Given the description of an element on the screen output the (x, y) to click on. 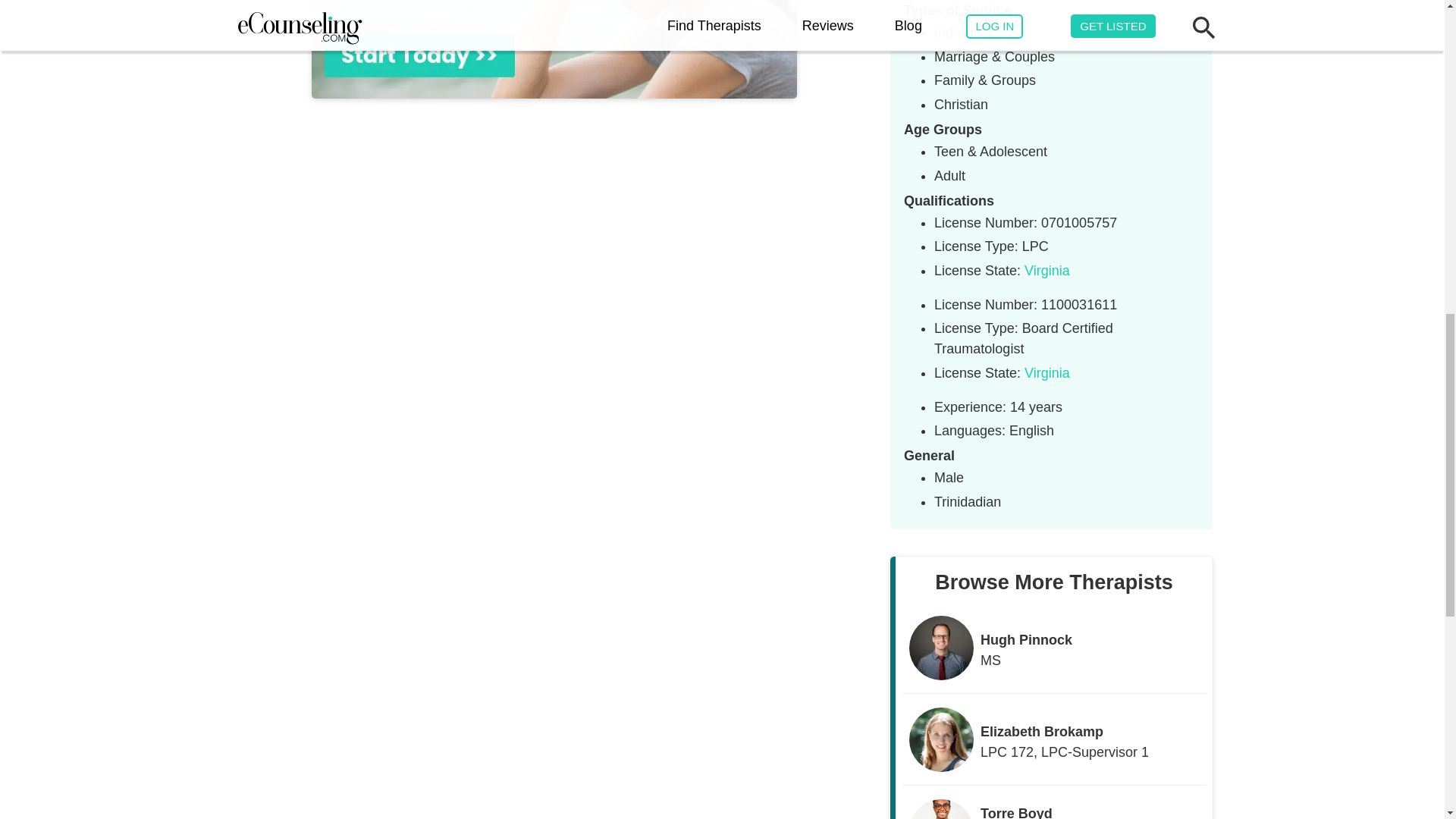
Virginia (1047, 270)
Virginia (1047, 372)
